Given the description of an element on the screen output the (x, y) to click on. 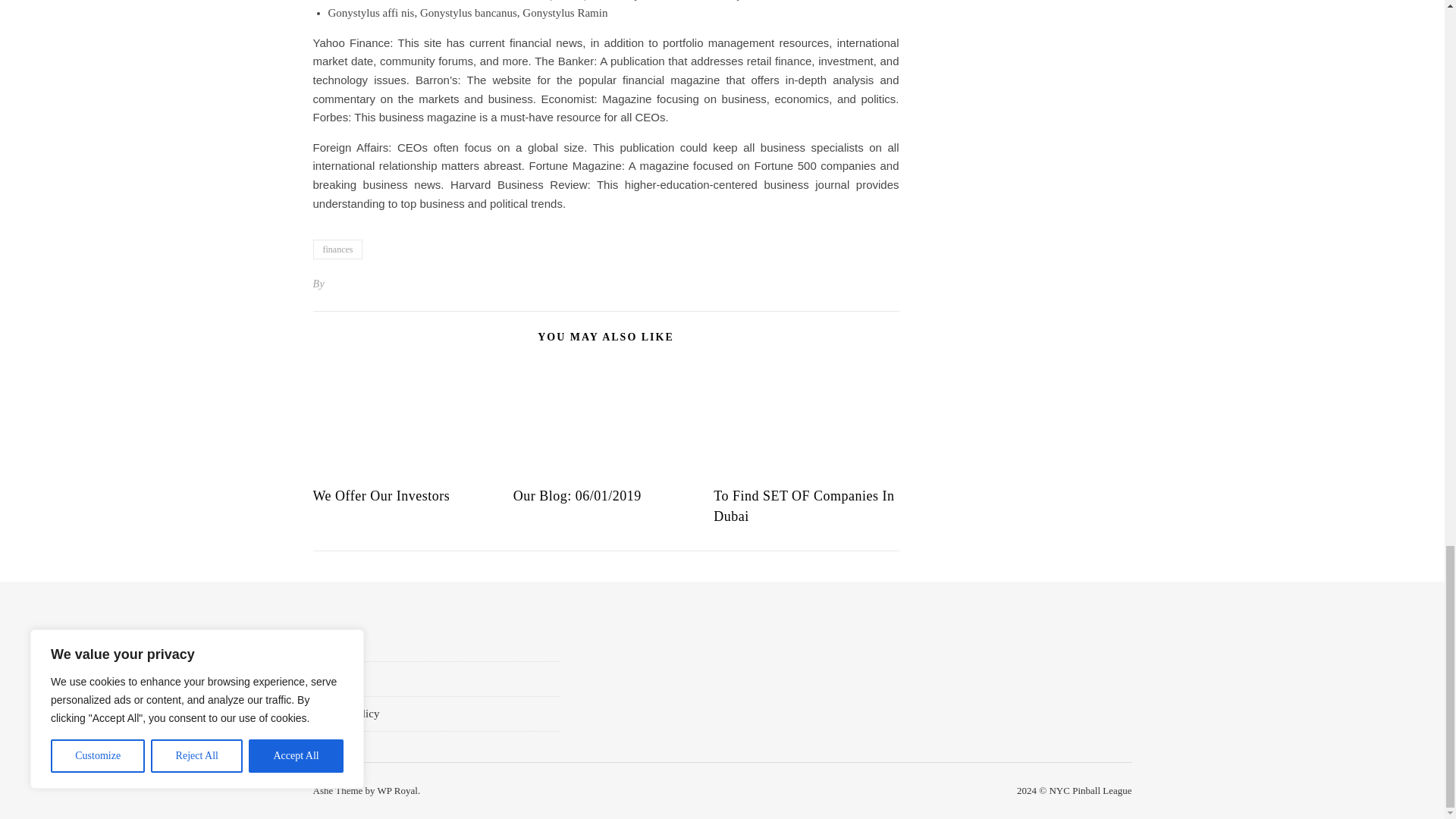
To Find SET OF Companies In Dubai (803, 506)
finances (337, 249)
We Offer Our Investors (381, 495)
